Given the description of an element on the screen output the (x, y) to click on. 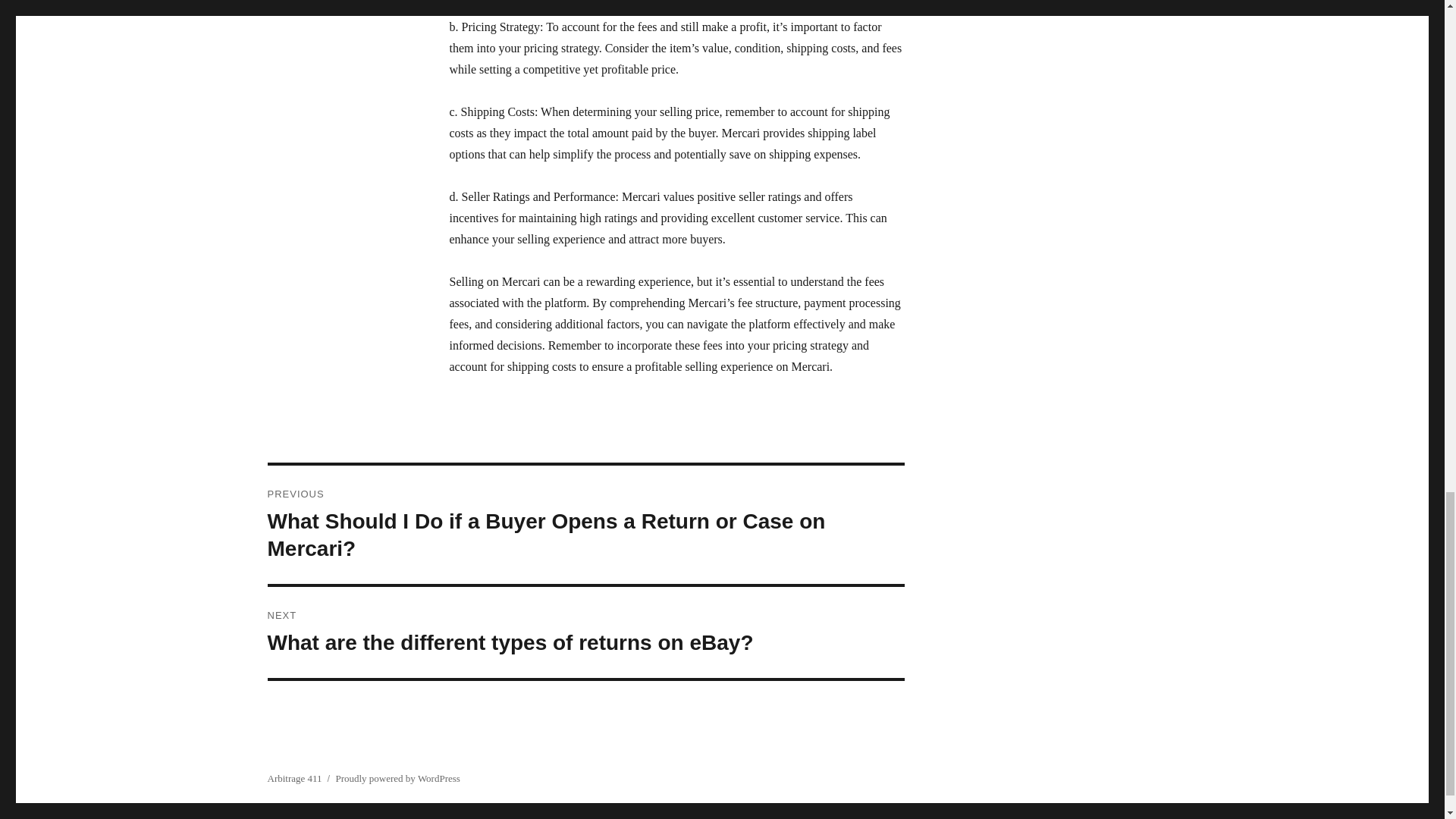
Arbitrage 411 (293, 778)
Proudly powered by WordPress (397, 778)
